Given the description of an element on the screen output the (x, y) to click on. 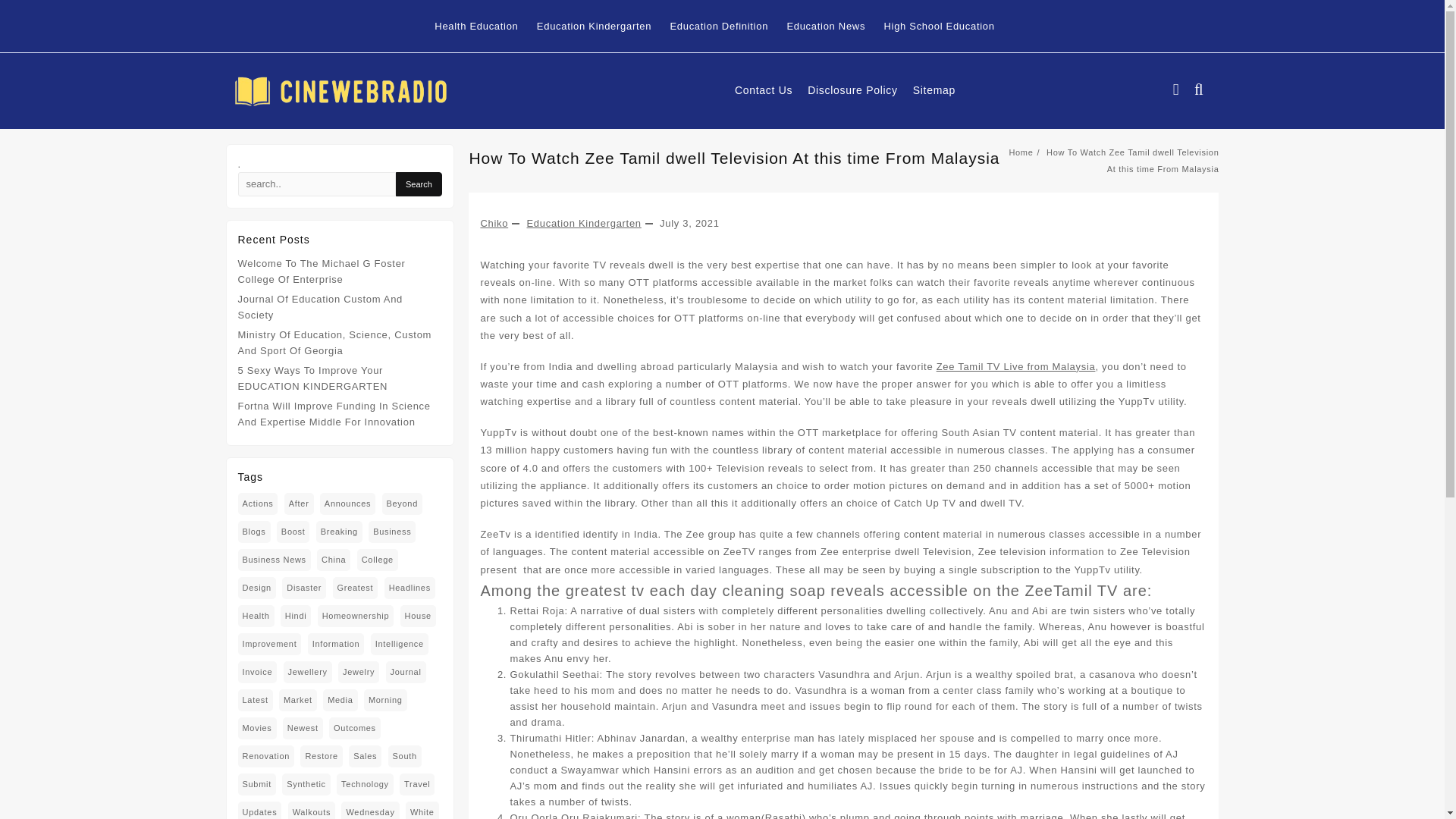
Health (256, 616)
5 Sexy Ways To Improve Your EDUCATION KINDERGARTEN (313, 378)
Breaking (338, 531)
House (417, 616)
Welcome To The Michael G Foster College Of Enterprise (322, 271)
Education News (833, 26)
Disaster (304, 587)
Search (419, 183)
Business (391, 531)
Journal Of Education Custom And Society (320, 307)
Actions (258, 504)
Greatest (355, 587)
Education Kindergarten (601, 26)
Sitemap (941, 90)
